Given the description of an element on the screen output the (x, y) to click on. 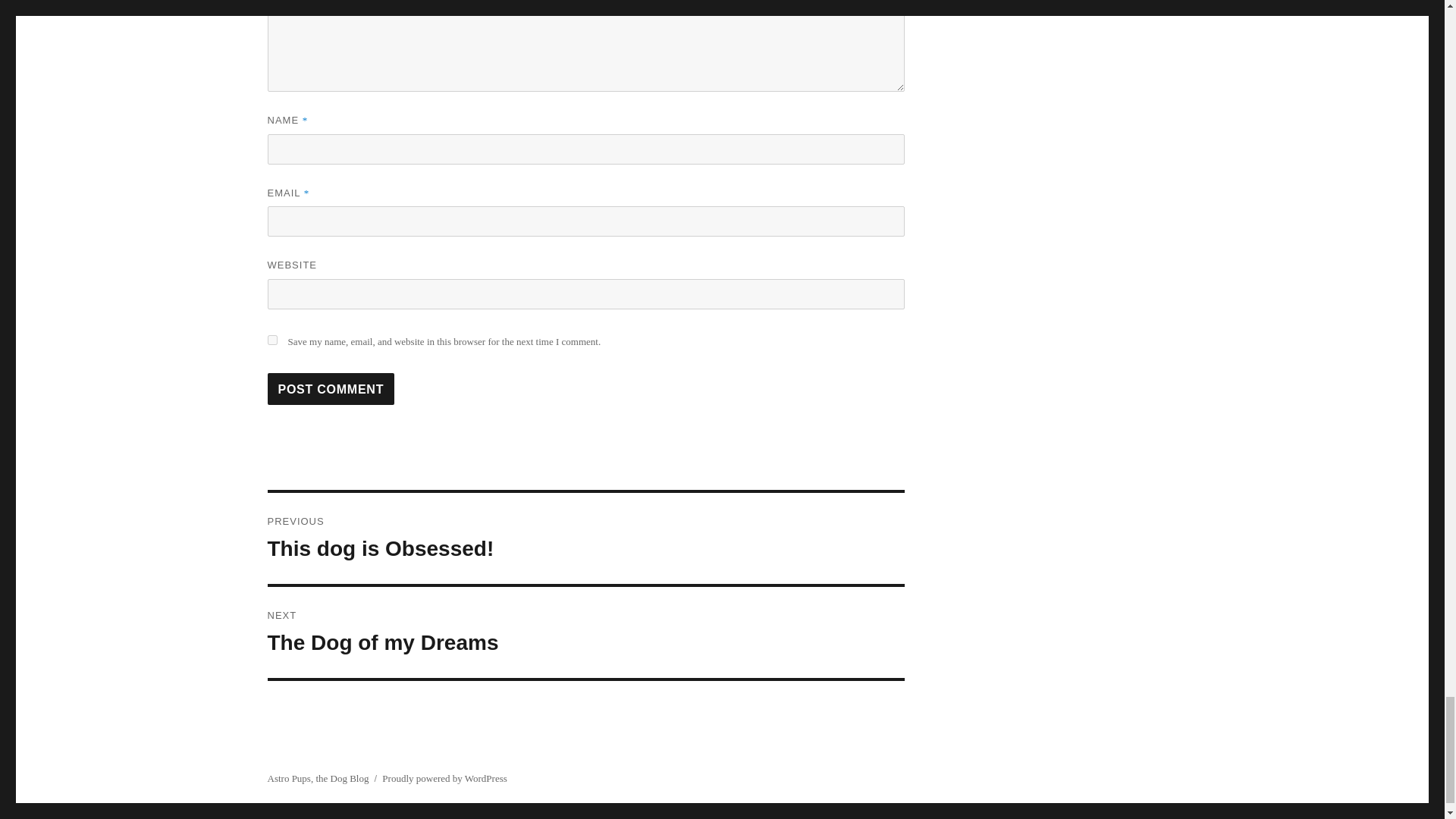
Post Comment (585, 538)
yes (330, 388)
Post Comment (585, 632)
